Given the description of an element on the screen output the (x, y) to click on. 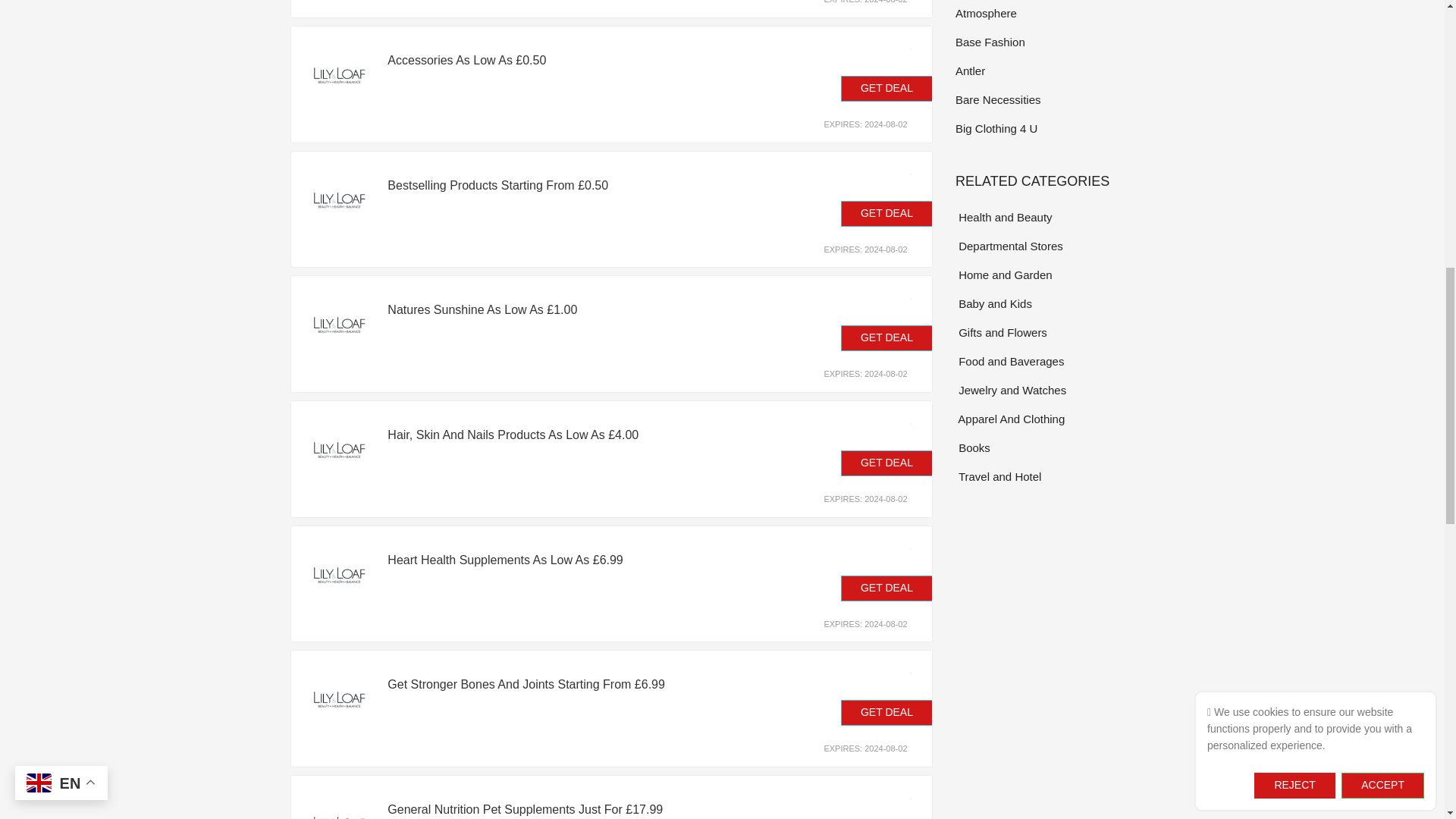
GET DEAL (887, 462)
GET DEAL (887, 338)
GET DEAL (887, 88)
GET DEAL (887, 588)
GET DEAL (887, 213)
GET DEAL (887, 712)
